Given the description of an element on the screen output the (x, y) to click on. 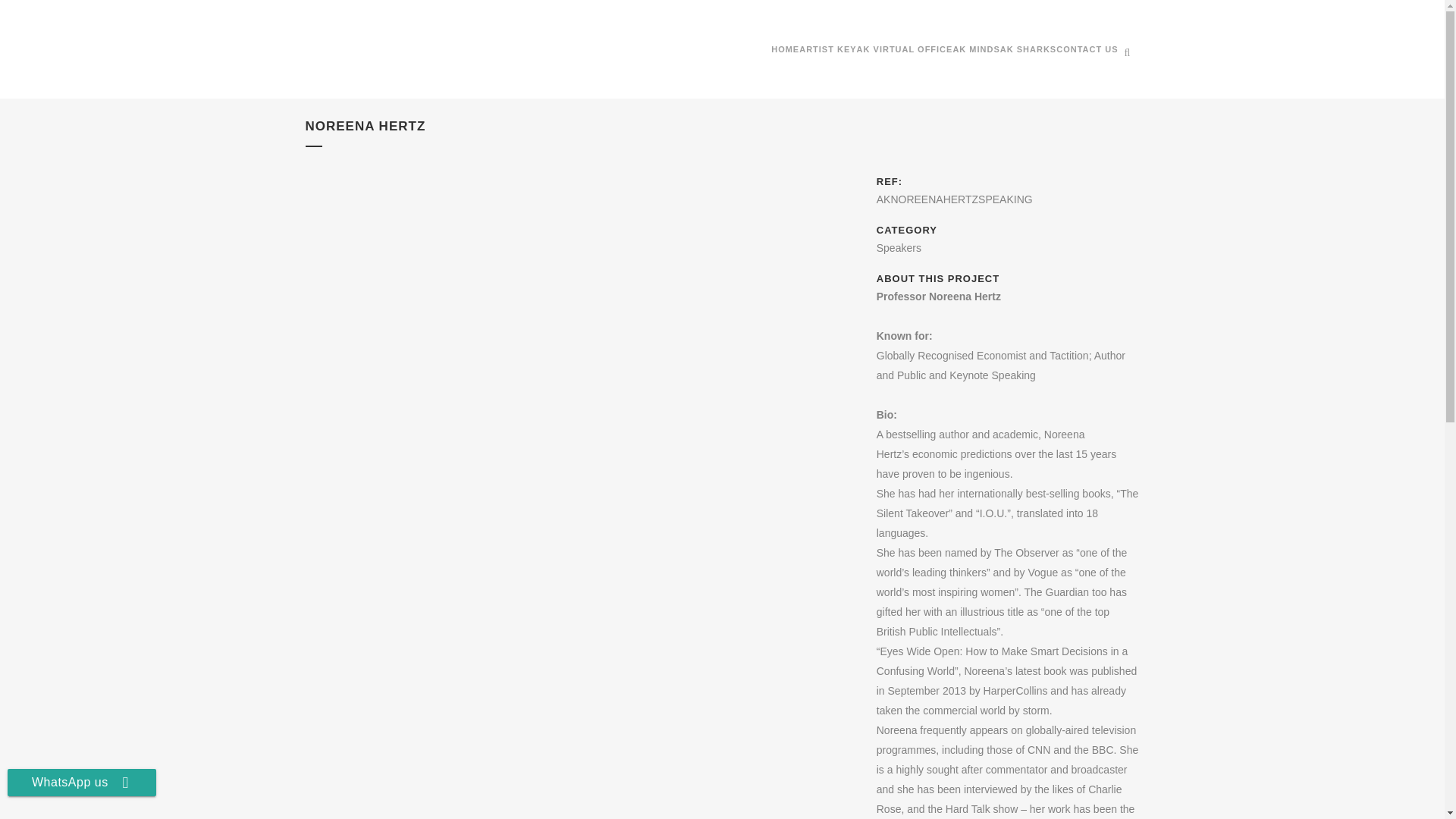
AK VIRTUAL OFFICE (905, 49)
